Given the description of an element on the screen output the (x, y) to click on. 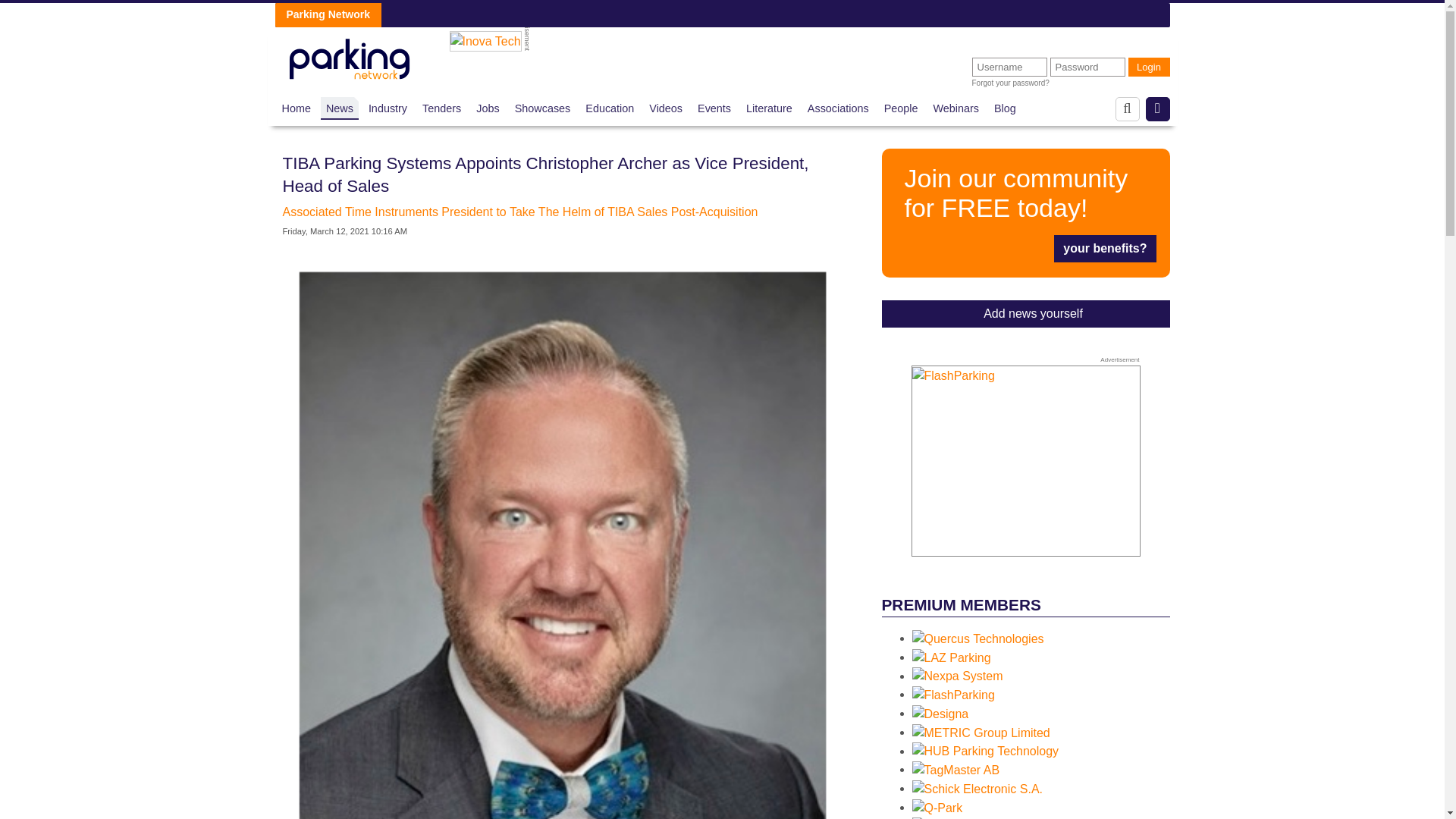
Literature (768, 108)
People (900, 108)
Events (713, 108)
Login (1149, 66)
Videos (665, 108)
Industry (387, 108)
Jobs (487, 108)
Education (609, 108)
Parking Network (349, 54)
Register here (1024, 212)
Blog (1005, 108)
News (339, 108)
Showcases (542, 108)
Webinars (955, 108)
